Given the description of an element on the screen output the (x, y) to click on. 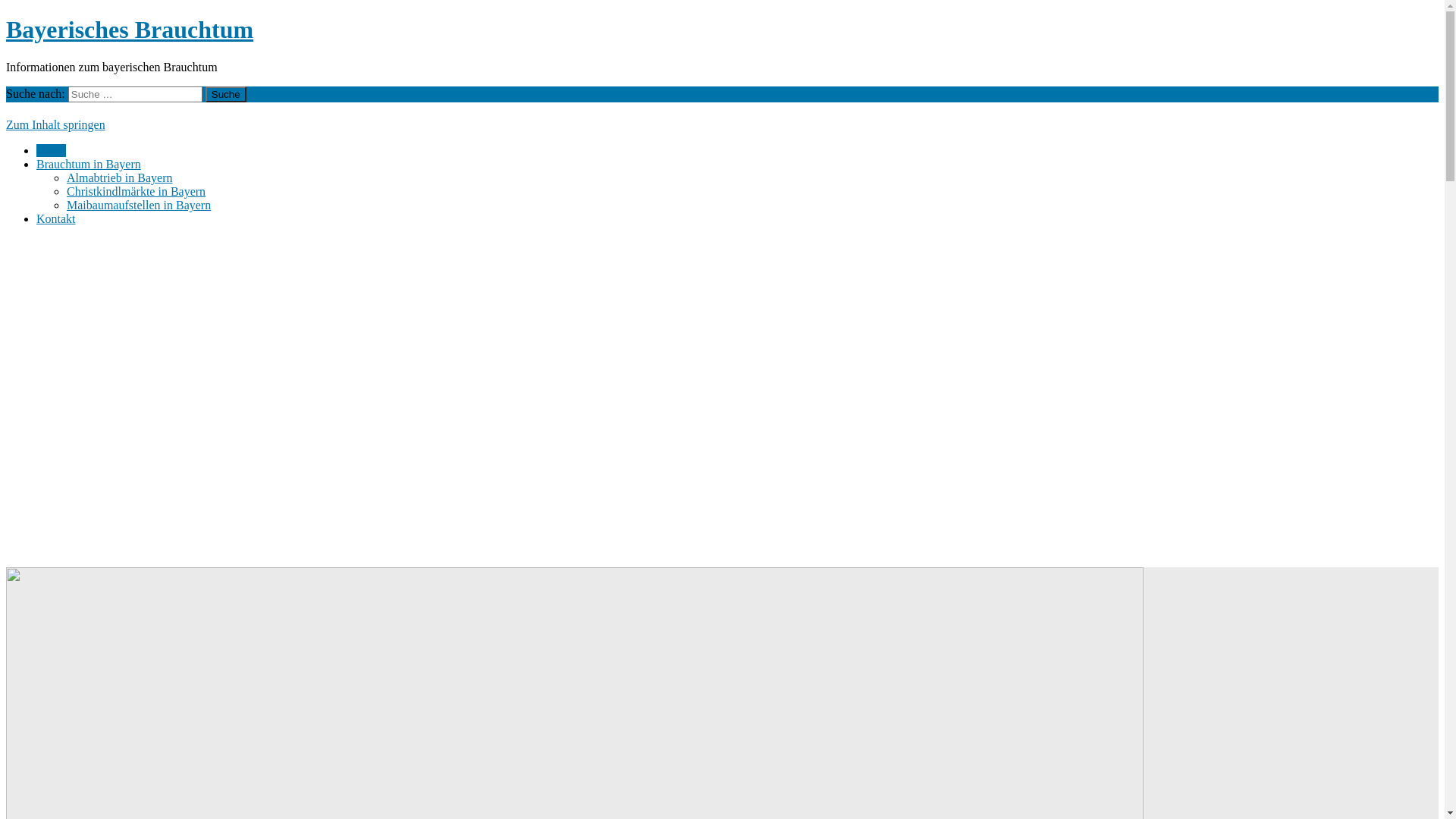
Suche Element type: text (225, 94)
Home Element type: text (50, 150)
Almabtrieb in Bayern Element type: text (119, 177)
Zum Inhalt springen Element type: text (55, 124)
Bayerisches Brauchtum Element type: text (129, 29)
Brauchtum in Bayern Element type: text (88, 163)
Maibaumaufstellen in Bayern Element type: text (138, 204)
Kontakt Element type: text (55, 218)
